Given the description of an element on the screen output the (x, y) to click on. 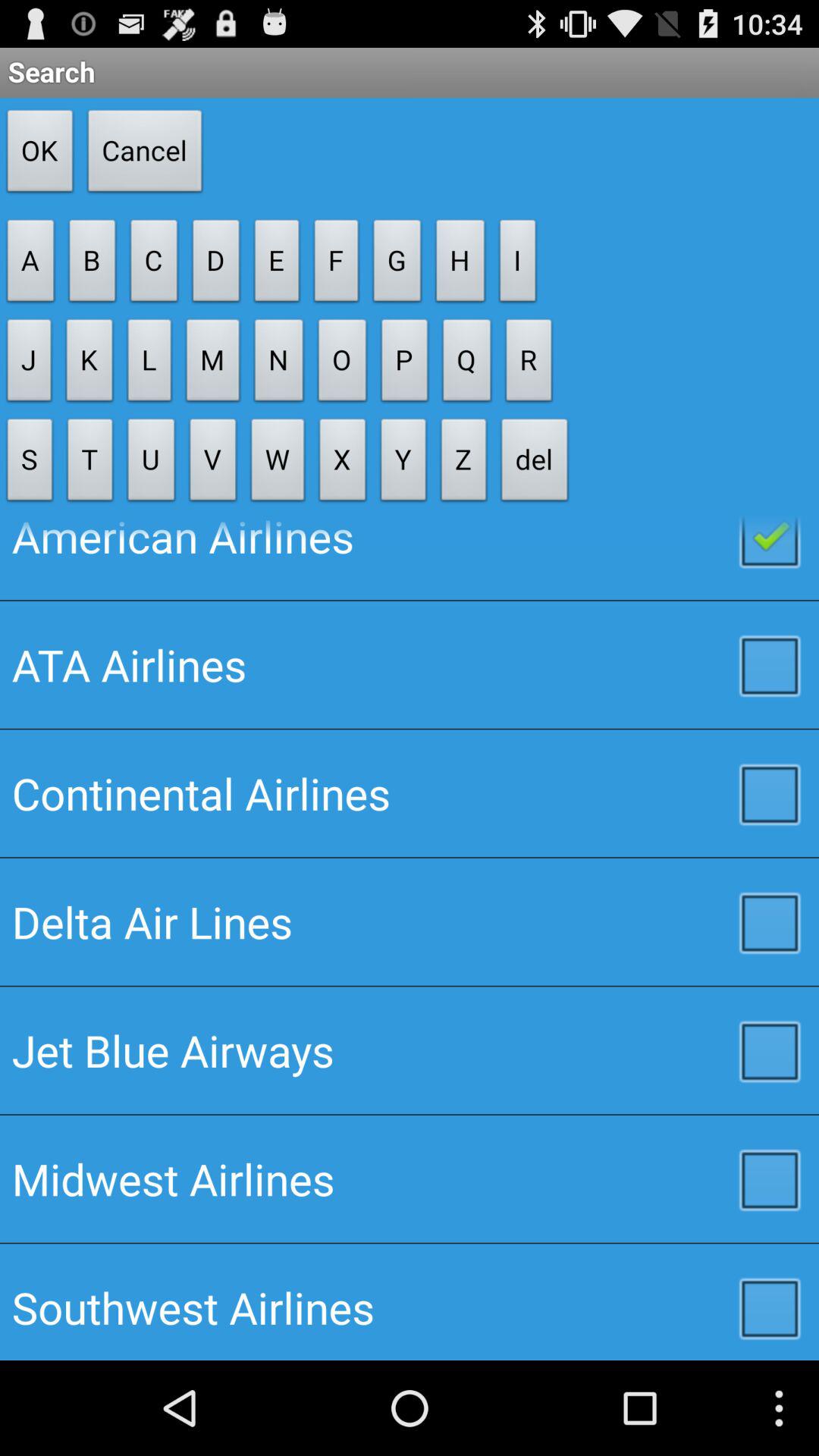
click the button below the s icon (409, 557)
